Given the description of an element on the screen output the (x, y) to click on. 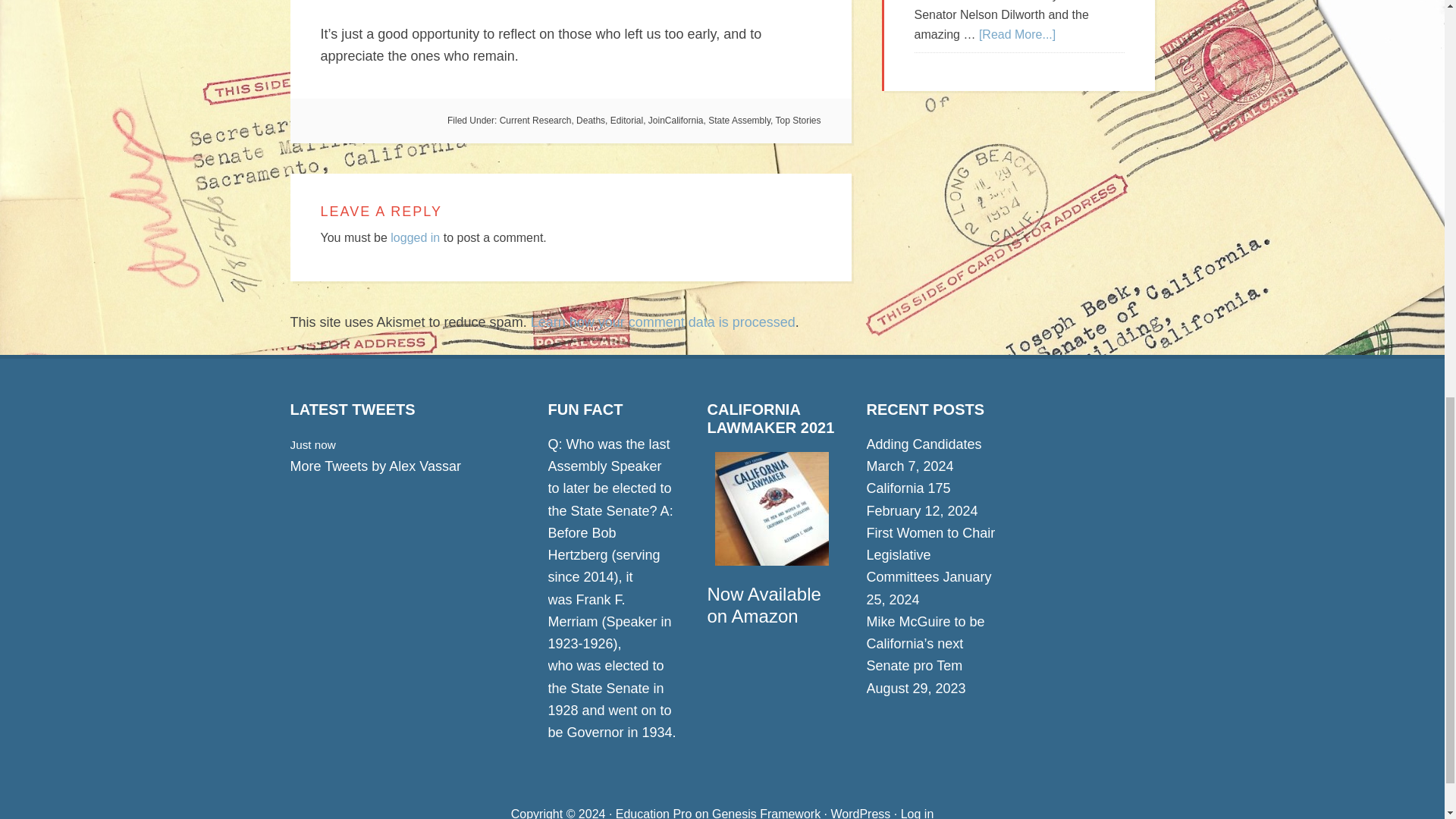
logged in (414, 237)
Learn how your comment data is processed (662, 322)
Deaths (590, 120)
Top Stories (797, 120)
State Assembly (738, 120)
JoinCalifornia (675, 120)
Editorial (626, 120)
Current Research (535, 120)
